Given the description of an element on the screen output the (x, y) to click on. 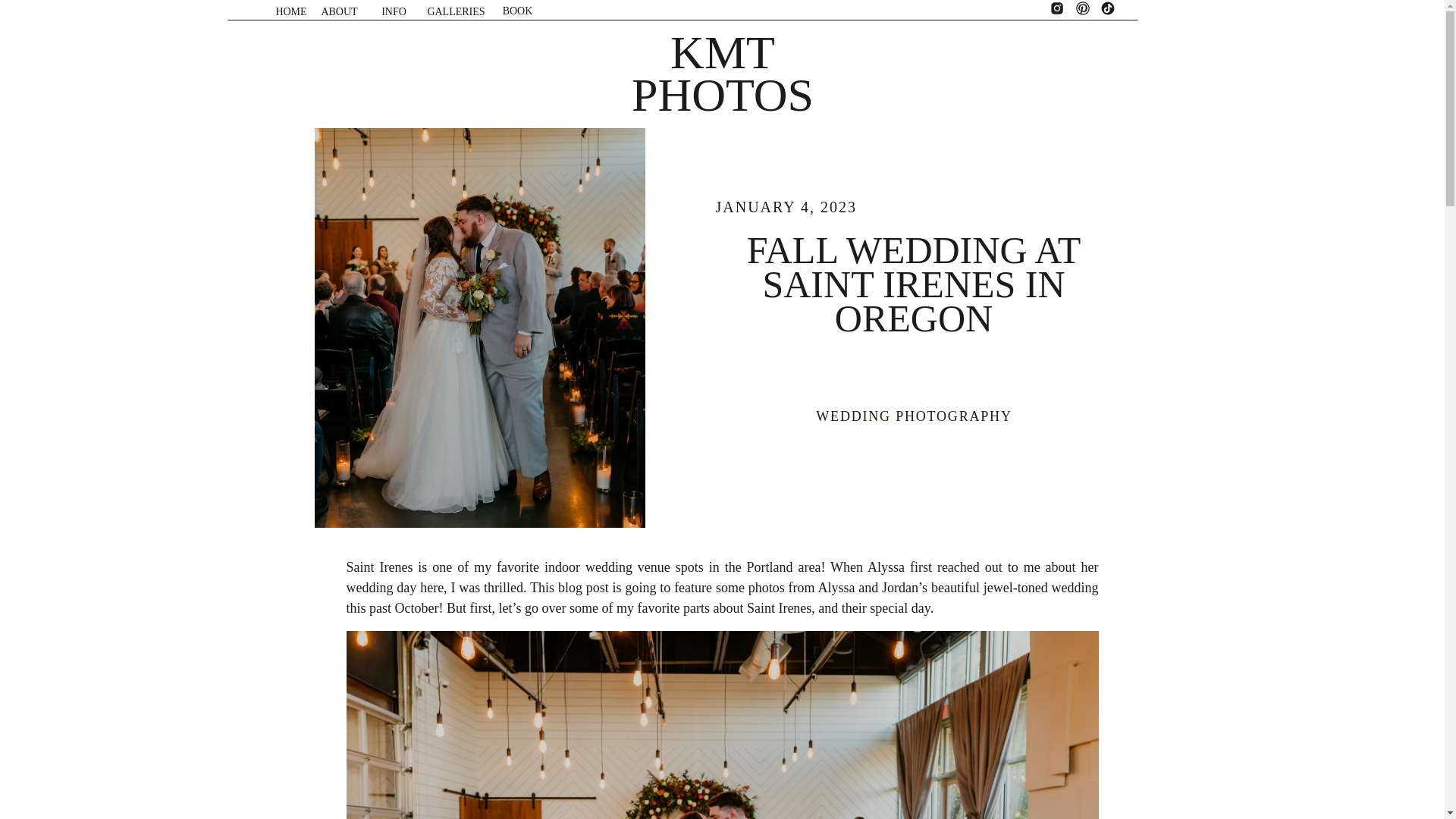
WEDDING PHOTOGRAPHY (913, 416)
BOOK (518, 15)
ABOUT (339, 11)
INFO (393, 16)
GALLERIES (456, 16)
HOME (290, 11)
